Given the description of an element on the screen output the (x, y) to click on. 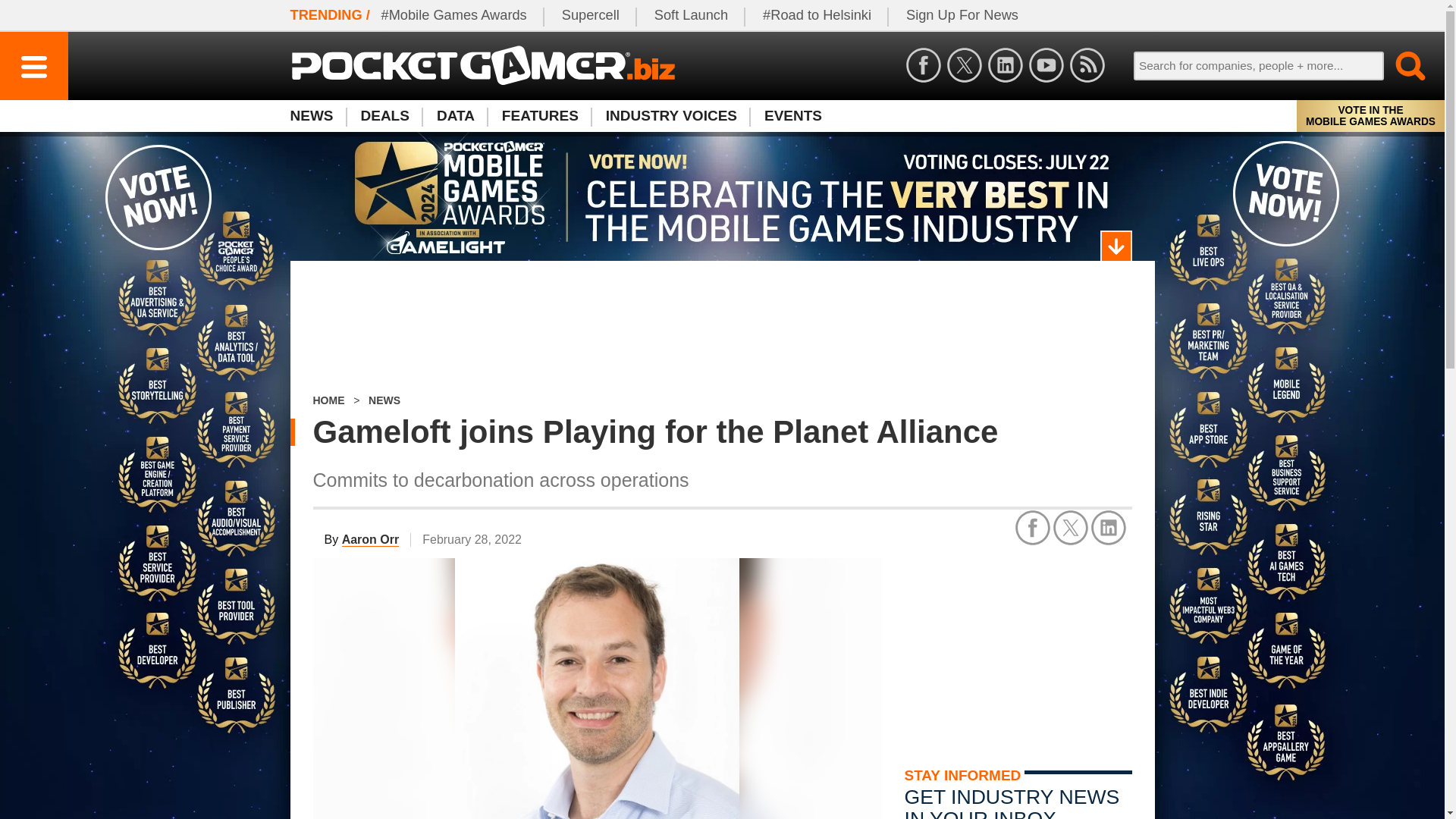
DEALS (385, 115)
HOME (328, 400)
FEATURES (539, 115)
Aaron Orr (370, 540)
Go (1402, 65)
Sign Up For News (961, 15)
3rd party ad content (722, 328)
Go (1402, 65)
NEWS (384, 400)
DATA (455, 115)
3rd party ad content (1017, 652)
Soft Launch (691, 15)
EVENTS (793, 115)
NEWS (317, 115)
